Given the description of an element on the screen output the (x, y) to click on. 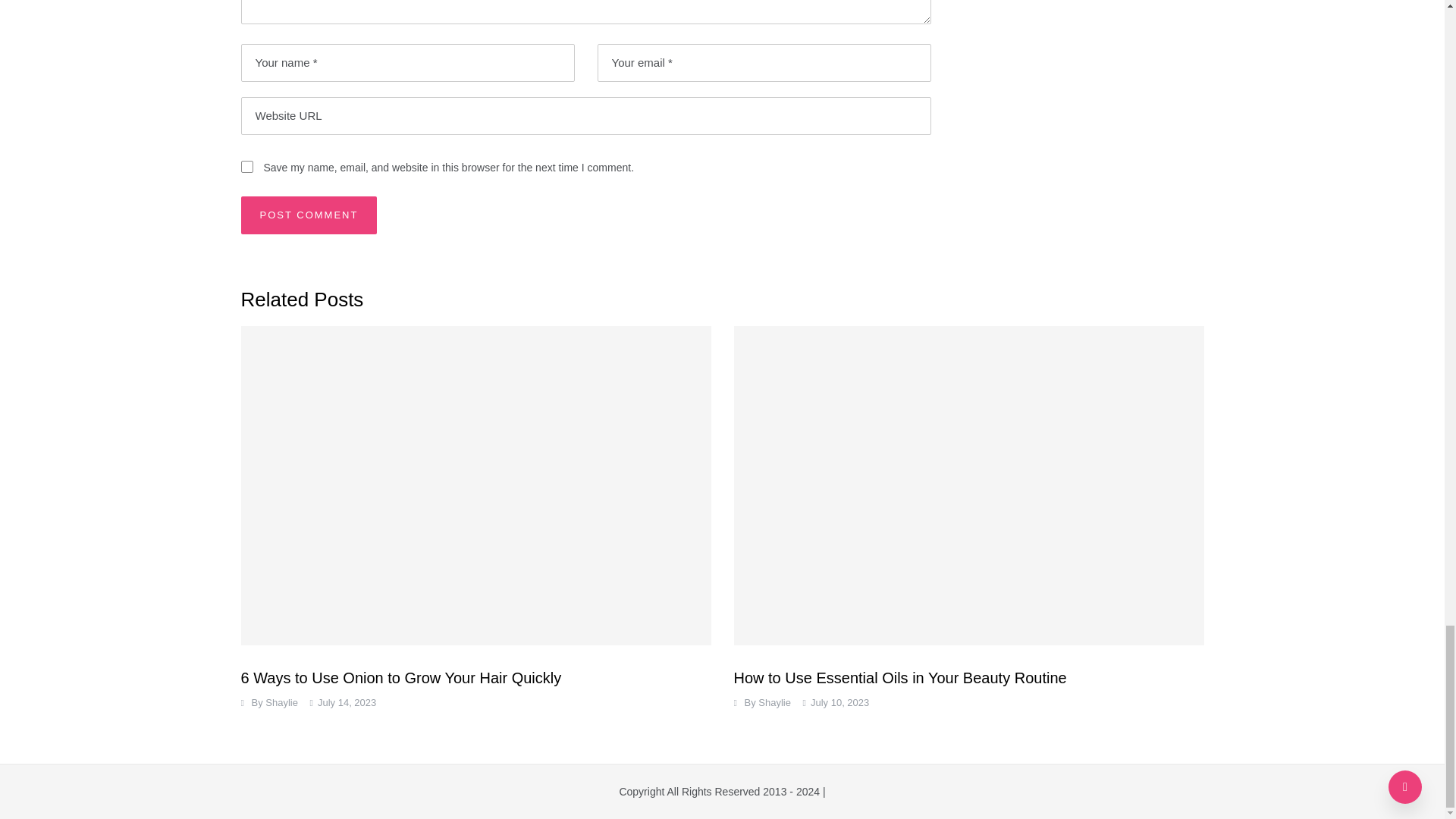
Post Comment (309, 215)
Post Comment (309, 215)
yes (247, 166)
